Given the description of an element on the screen output the (x, y) to click on. 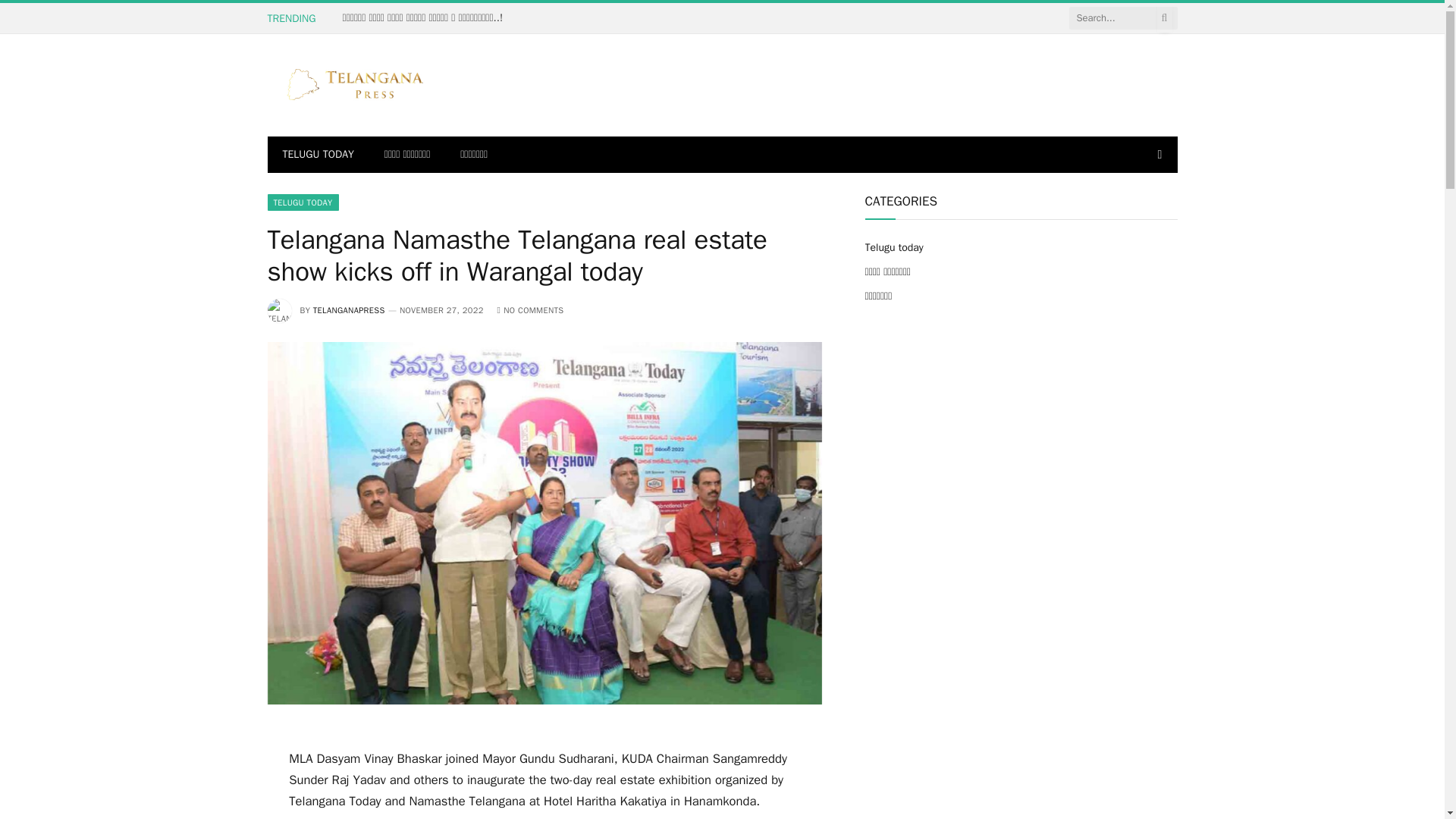
TELUGU TODAY (317, 154)
TELANGANAPRESS (349, 309)
NO COMMENTS (530, 309)
Posts by Telanganapress (349, 309)
Switch to Dark Design - easier on eyes. (1158, 154)
Telangana Press (355, 84)
TELUGU TODAY (301, 202)
